Given the description of an element on the screen output the (x, y) to click on. 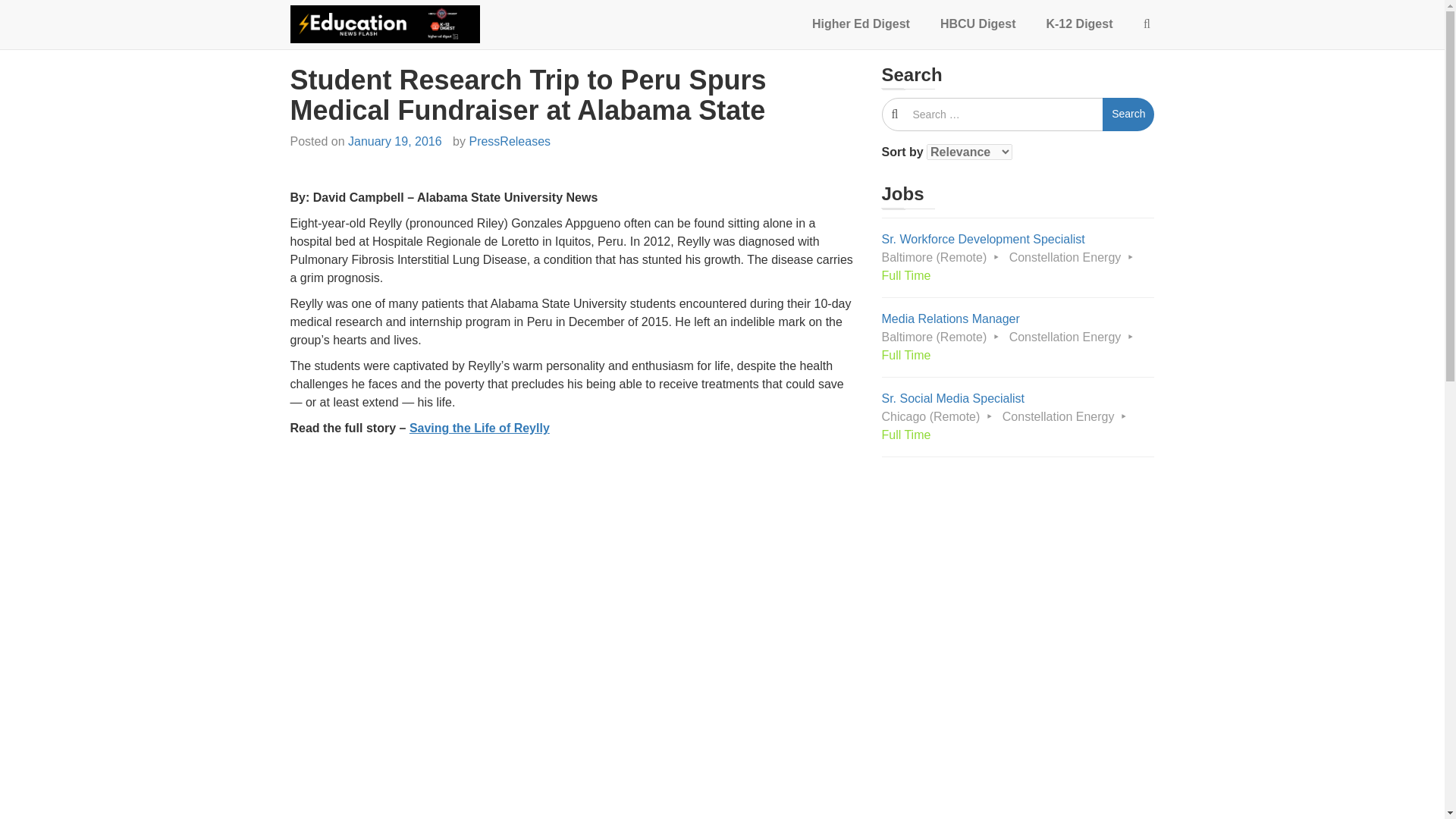
K-12 Digest (1078, 24)
HBCU Digest (977, 24)
Search (1128, 114)
January 19, 2016 (394, 141)
Saving the Life of Reylly (479, 427)
Advertisement (574, 805)
Higher Ed Digest (860, 24)
Education News Flash (386, 55)
PressReleases (509, 141)
